Given the description of an element on the screen output the (x, y) to click on. 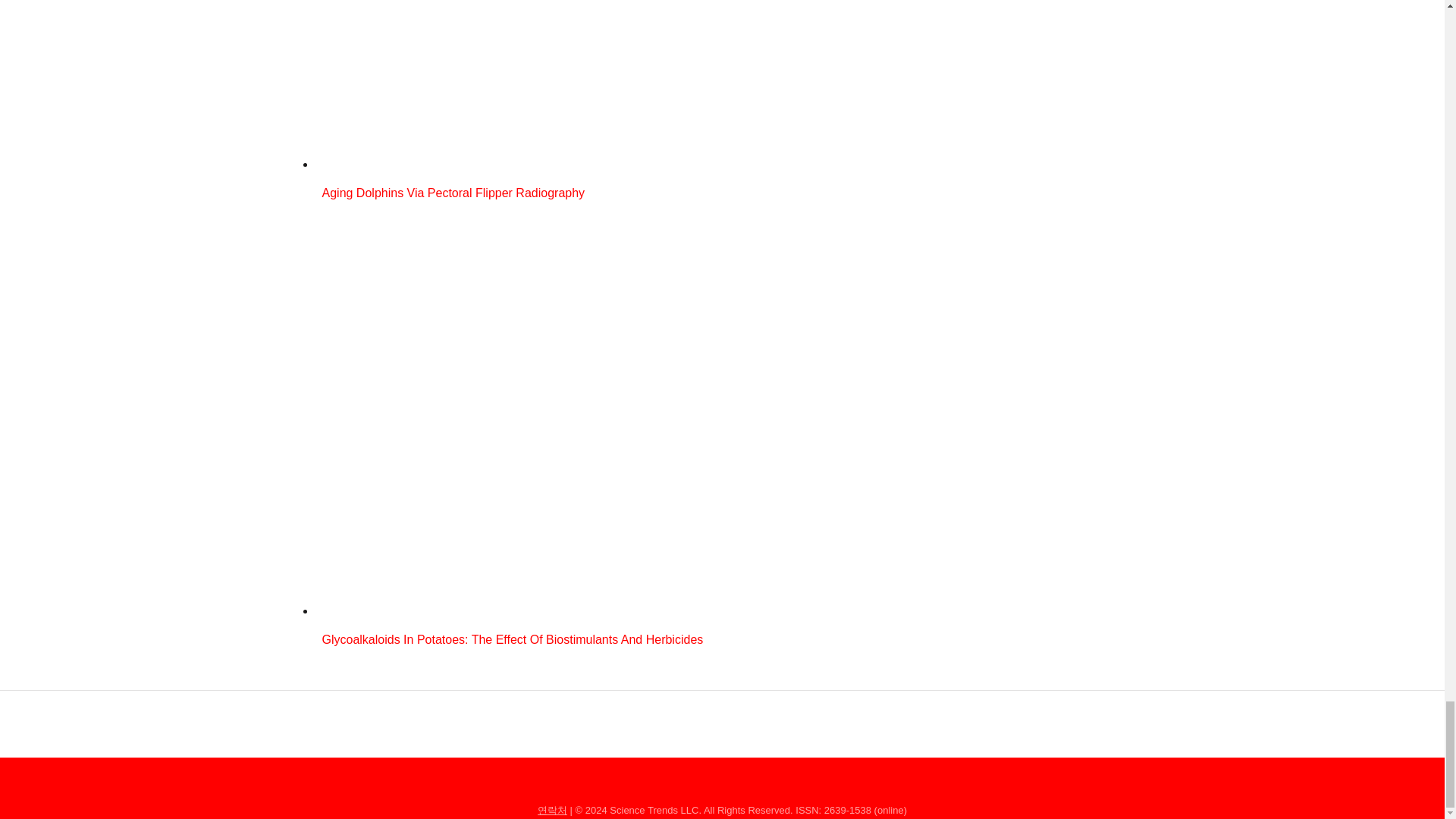
Aging Dolphins Via Pectoral Flipper Radiography (616, 195)
Aging Dolphins Via Pectoral Flipper Radiography (616, 164)
